Given the description of an element on the screen output the (x, y) to click on. 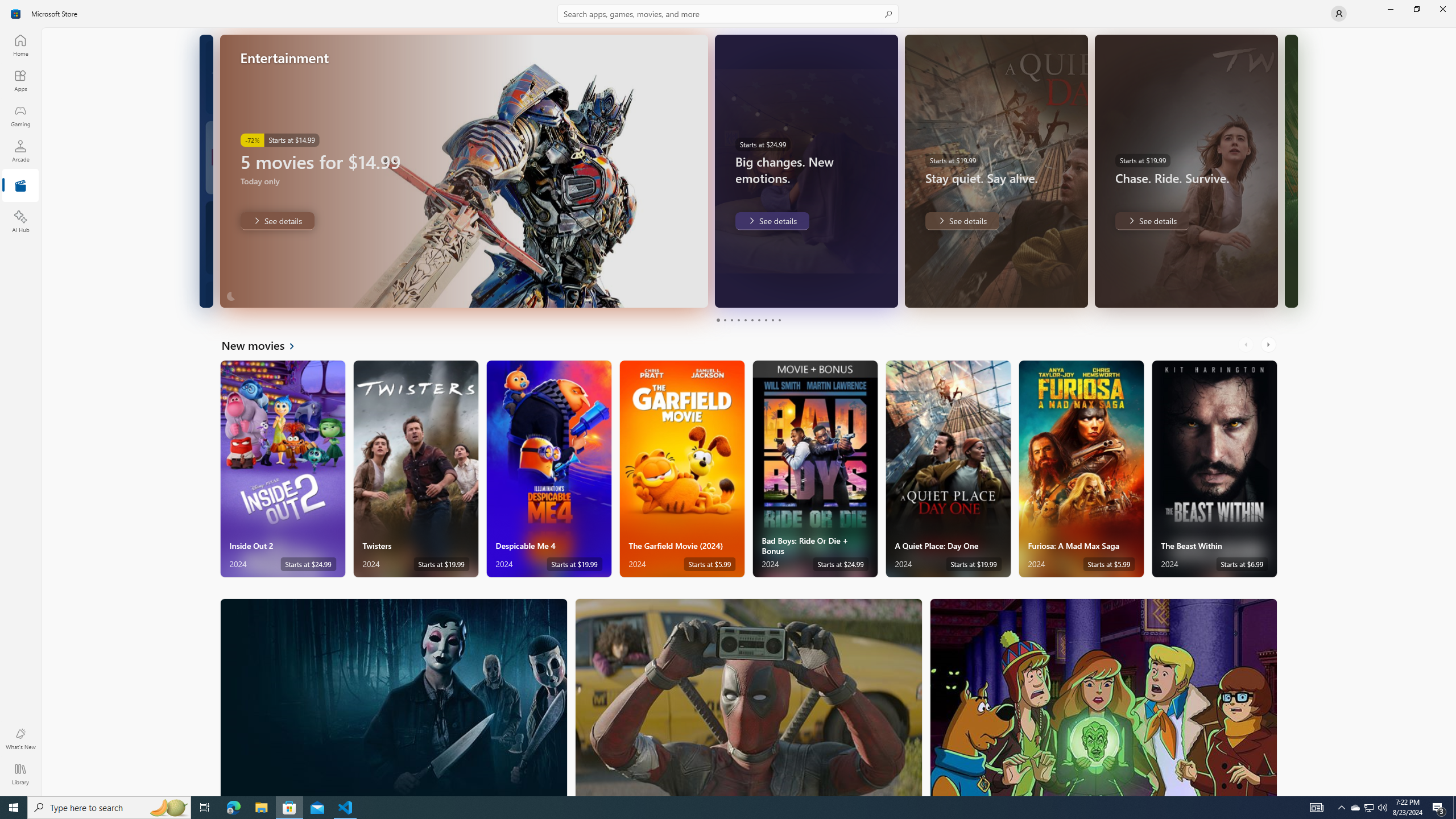
Page 5 (744, 319)
User profile (1338, 13)
What's New (20, 738)
The Garfield Movie (2024). Starts at $5.99   (681, 469)
Page 1 (717, 319)
Library (20, 773)
Unmute (881, 291)
Apps (20, 80)
Gaming (20, 115)
Pause Trailer (858, 291)
Class: Image (15, 13)
